Given the description of an element on the screen output the (x, y) to click on. 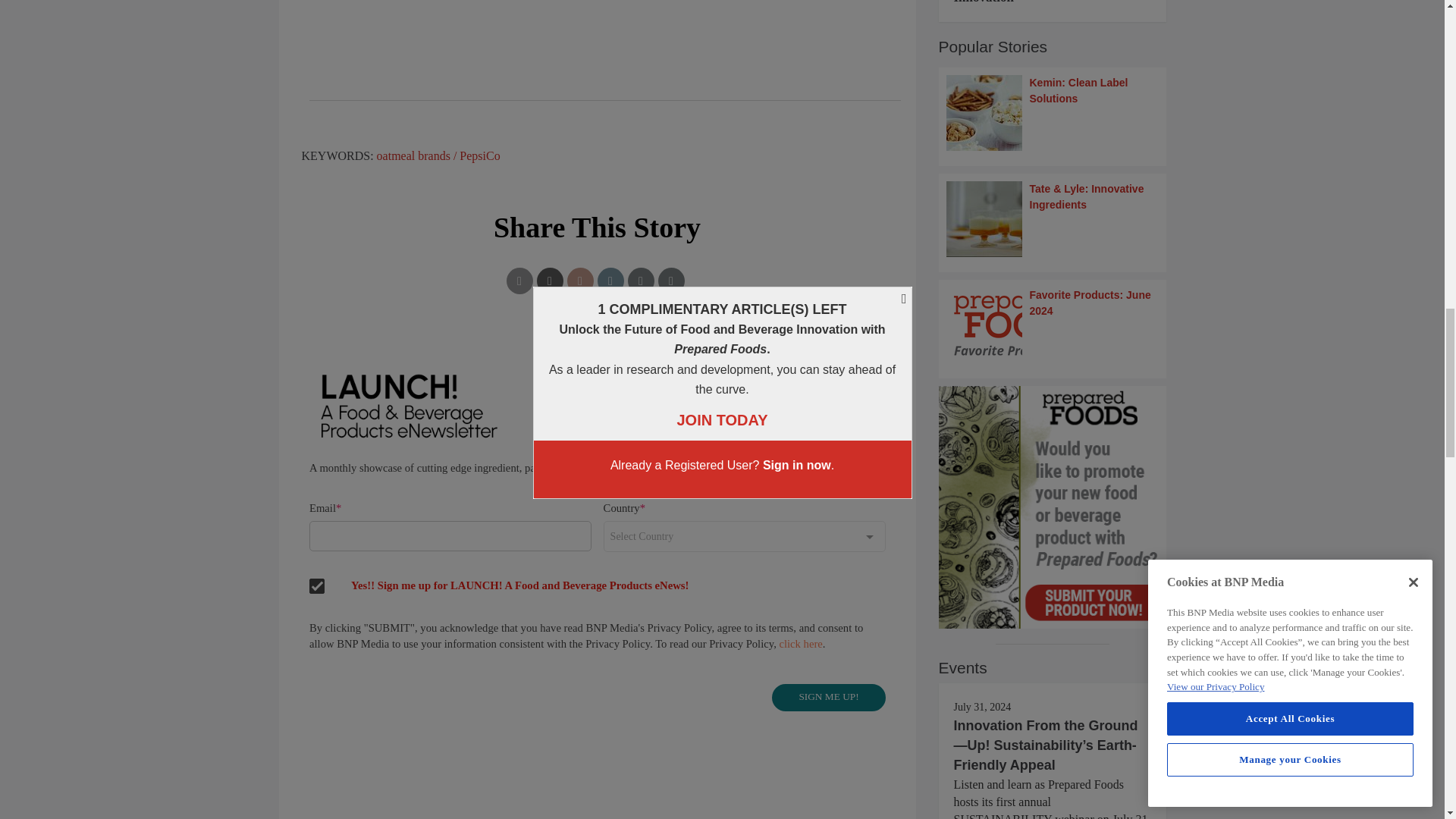
Favorite Products: June 2024 (1052, 325)
Kemin: Clean Label Solutions (1052, 112)
